Given the description of an element on the screen output the (x, y) to click on. 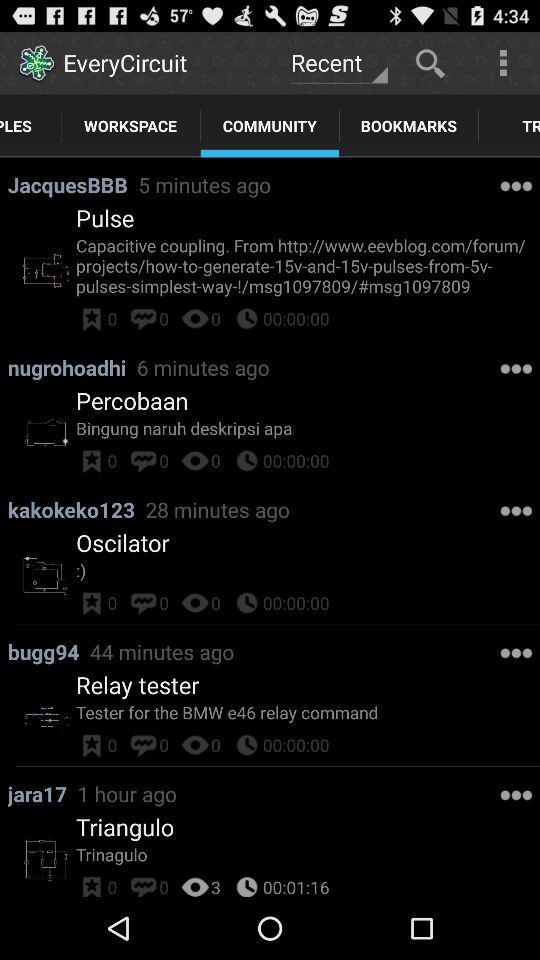
swipe until jacquesbbb icon (72, 184)
